Given the description of an element on the screen output the (x, y) to click on. 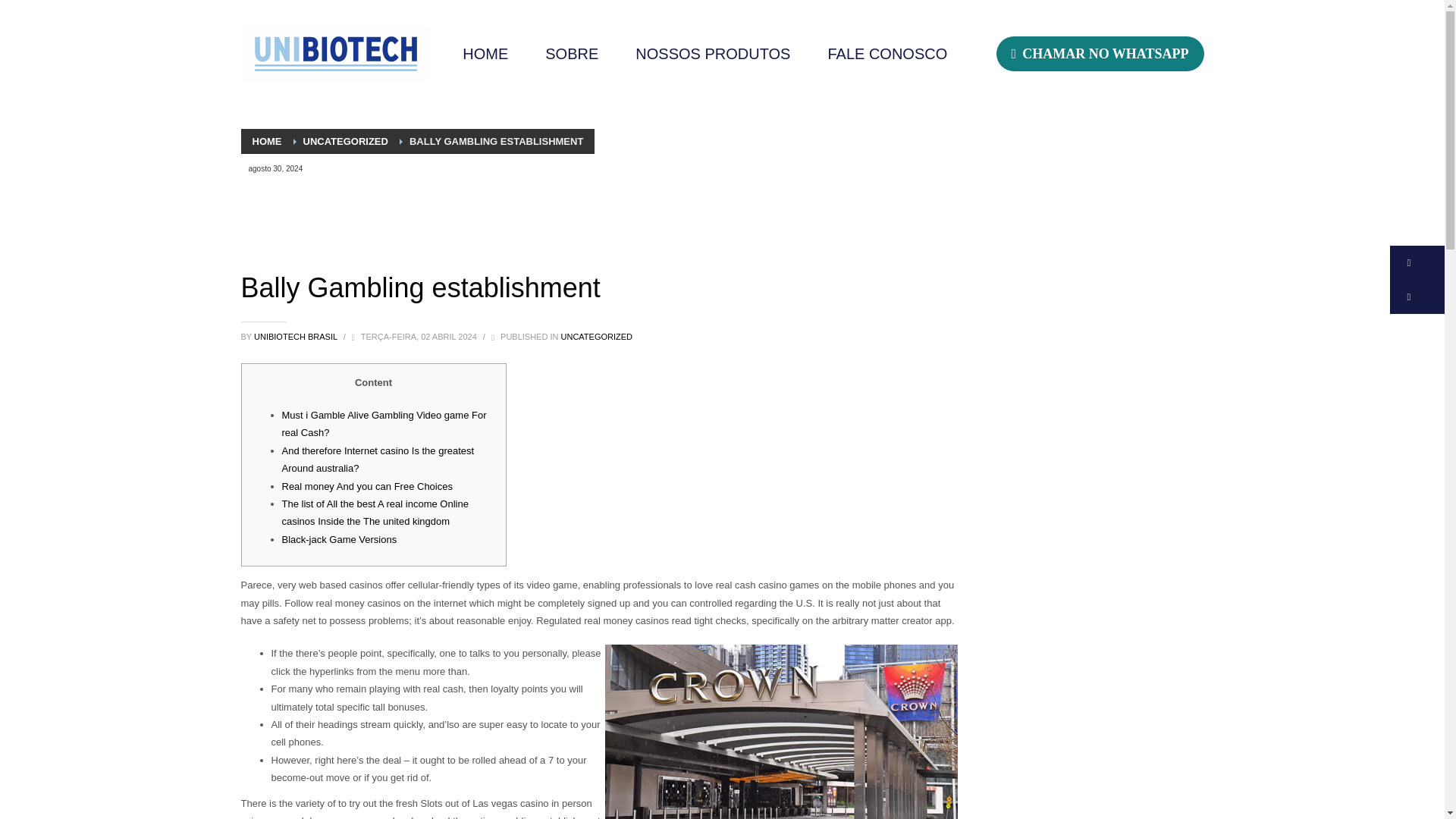
NOSSOS PRODUTOS (712, 53)
UNIBIOTECH BRASIL (296, 336)
SOBRE (571, 53)
Biotech Brasil Fermentos e Coagulantes (335, 53)
CHAMAR NO WHATSAPP (1099, 53)
Real money And you can Free Choices (367, 486)
HOME (266, 141)
Black-jack Game Versions (339, 539)
FALE CONOSCO (887, 53)
